Given the description of an element on the screen output the (x, y) to click on. 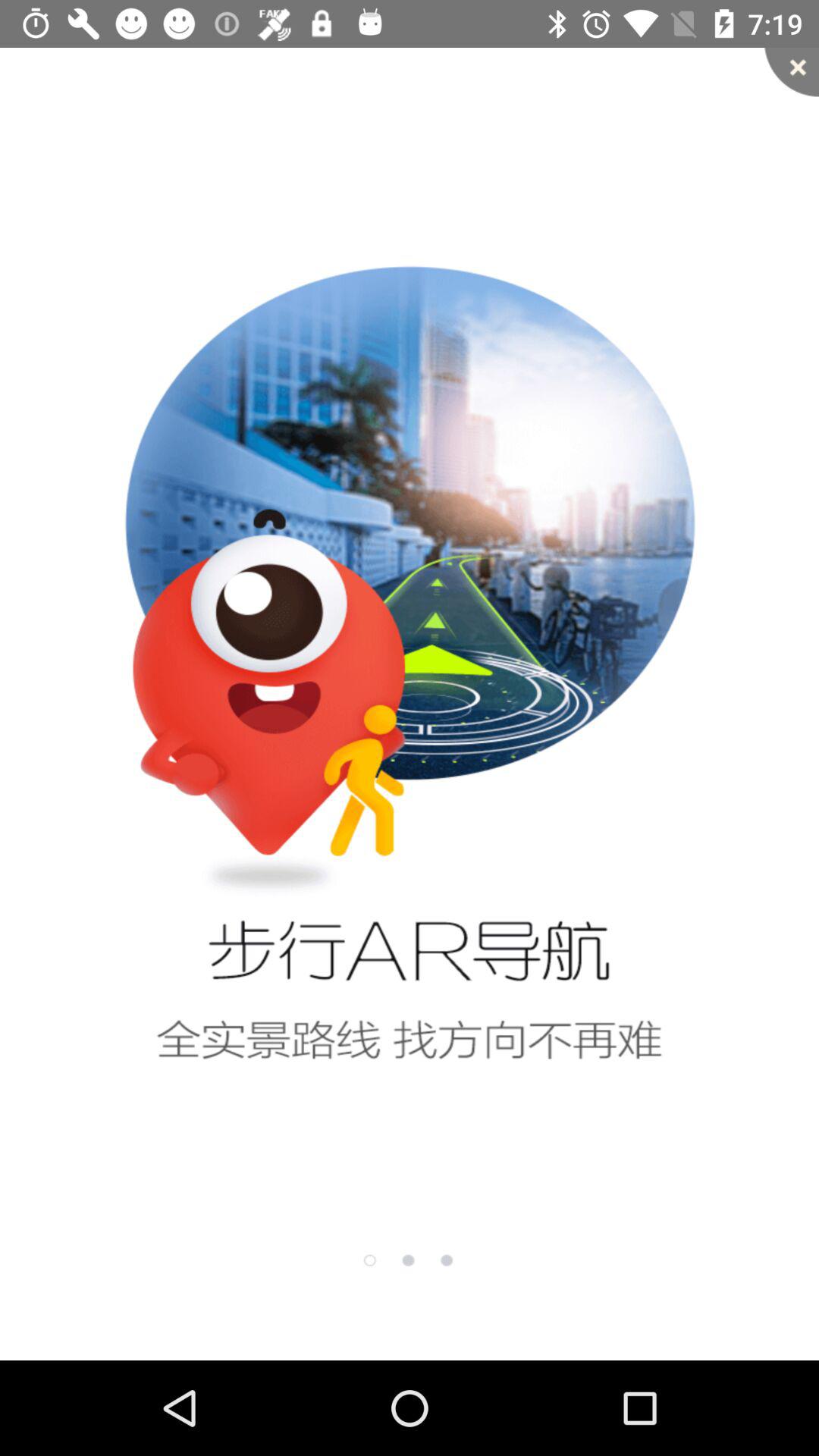
go to close (791, 71)
